Given the description of an element on the screen output the (x, y) to click on. 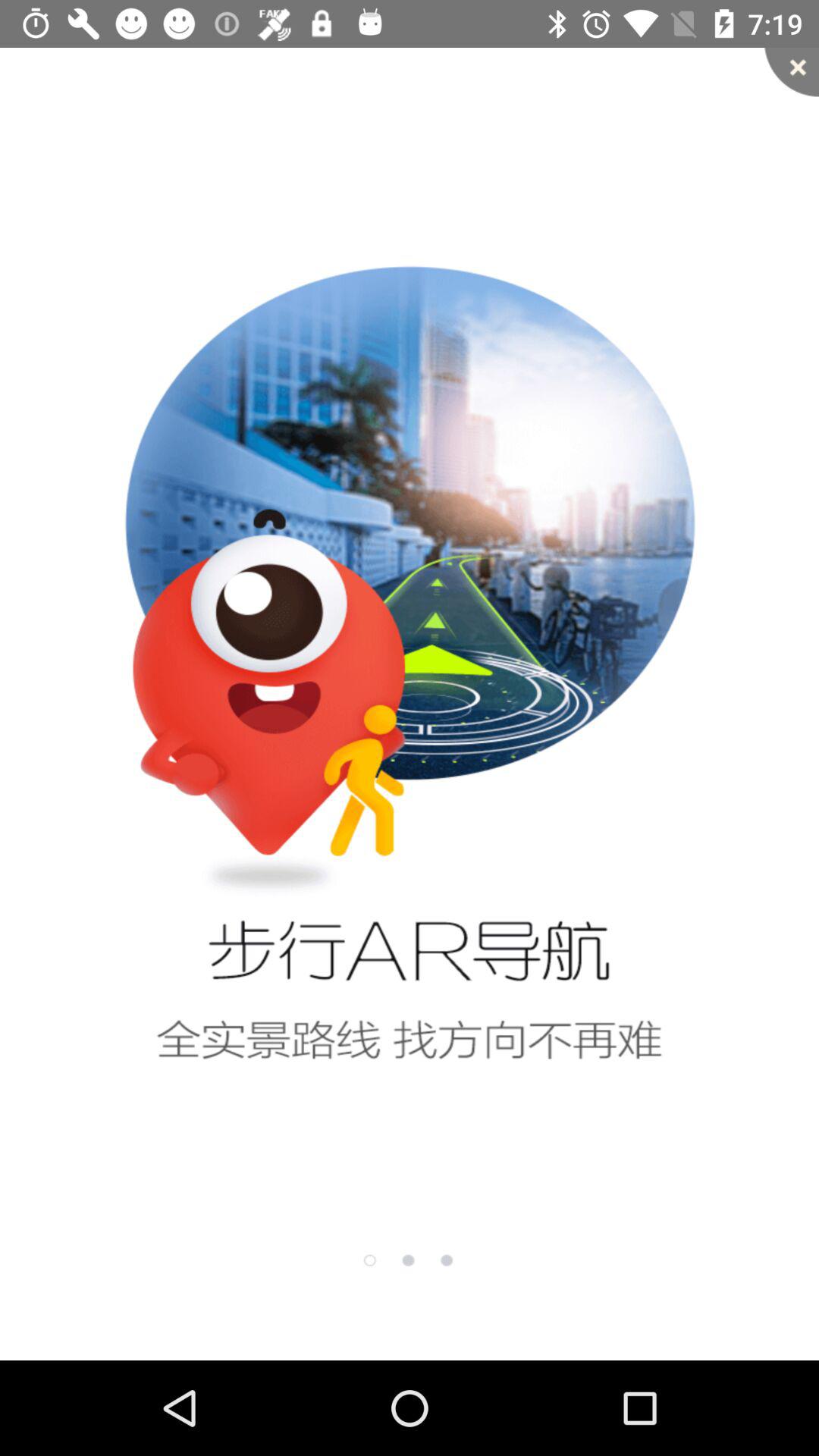
go to close (791, 71)
